Given the description of an element on the screen output the (x, y) to click on. 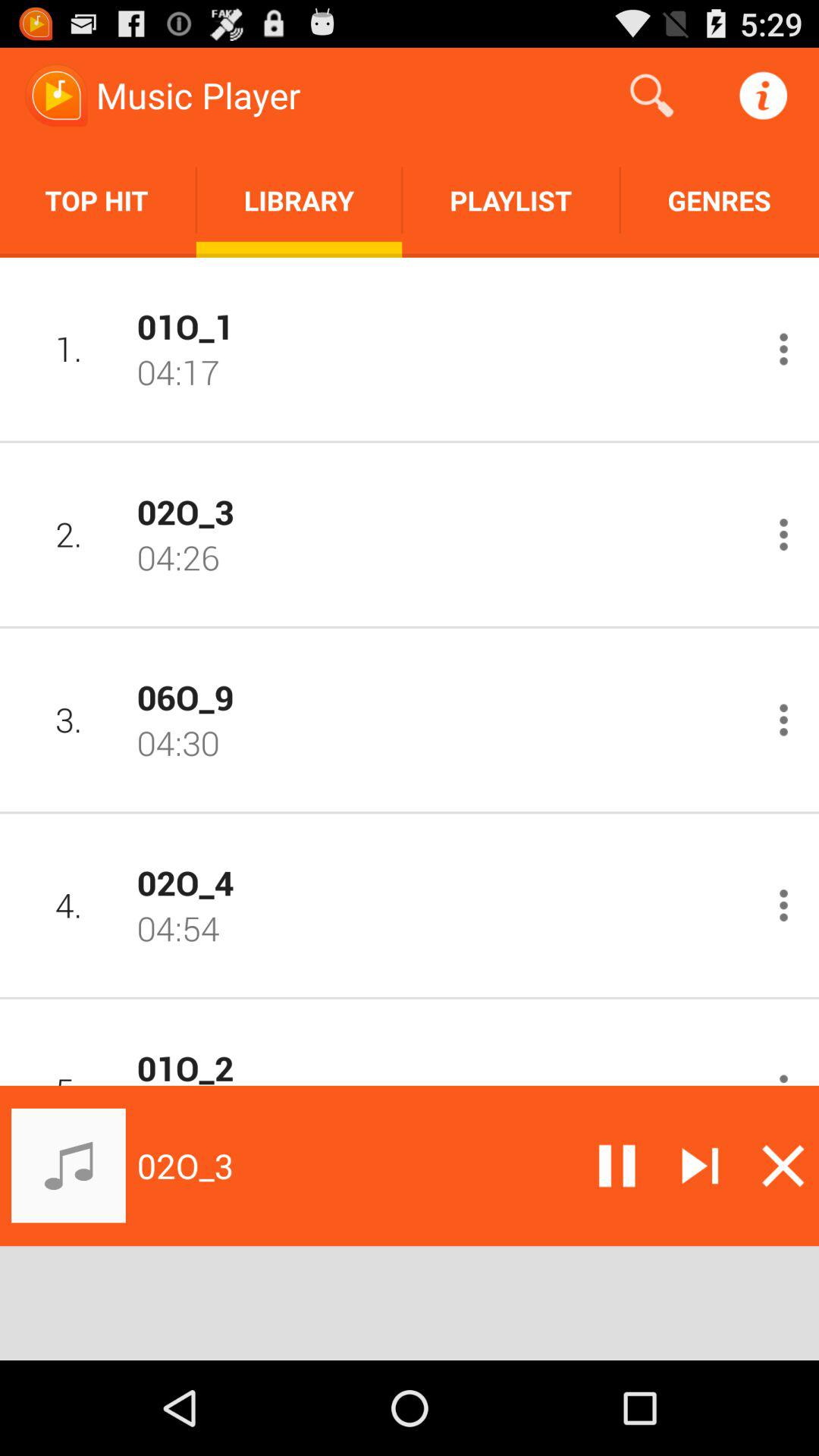
select the app above playlist app (651, 95)
